Given the description of an element on the screen output the (x, y) to click on. 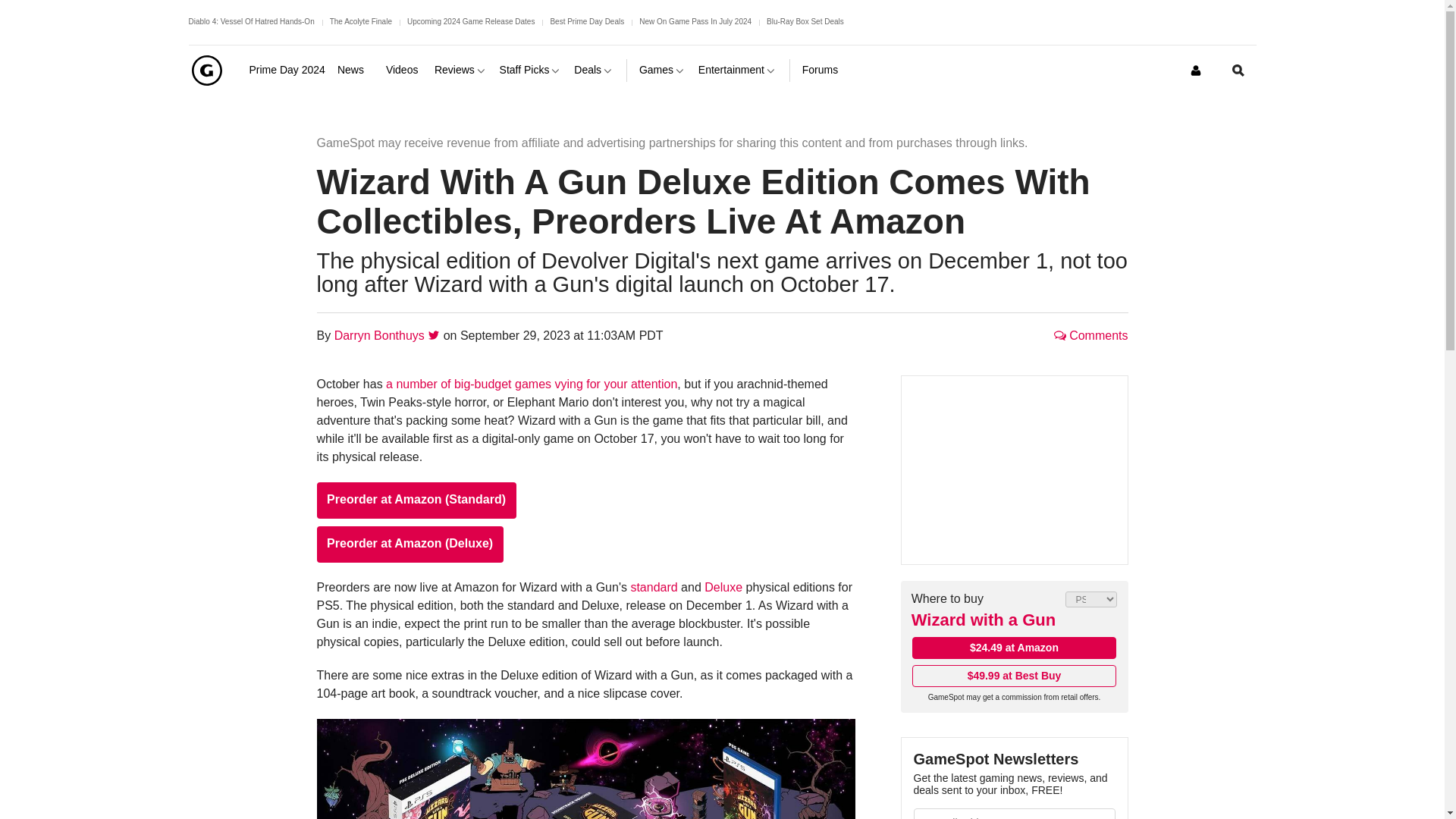
Deals (593, 70)
Videos (403, 70)
GameSpot (205, 70)
News (355, 70)
Diablo 4: Vessel Of Hatred Hands-On (250, 21)
Prime Day 2024 (286, 70)
Upcoming 2024 Game Release Dates (470, 21)
Best Prime Day Deals (587, 21)
Reviews (460, 70)
Blu-Ray Box Set Deals (805, 21)
Games (662, 70)
The Acolyte Finale (360, 21)
Staff Picks (530, 70)
New On Game Pass In July 2024 (695, 21)
